Given the description of an element on the screen output the (x, y) to click on. 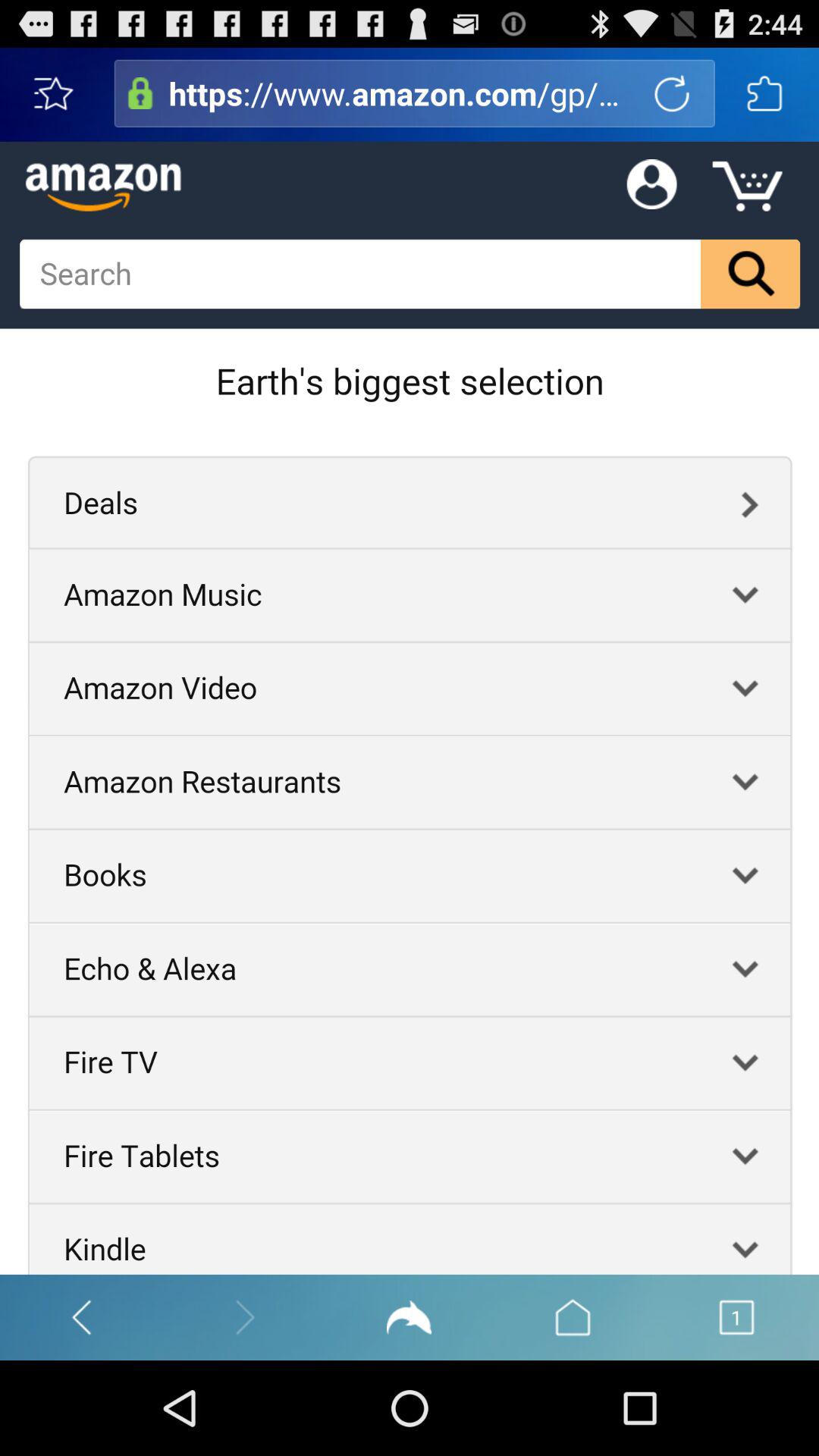
unblock section (140, 93)
